Given the description of an element on the screen output the (x, y) to click on. 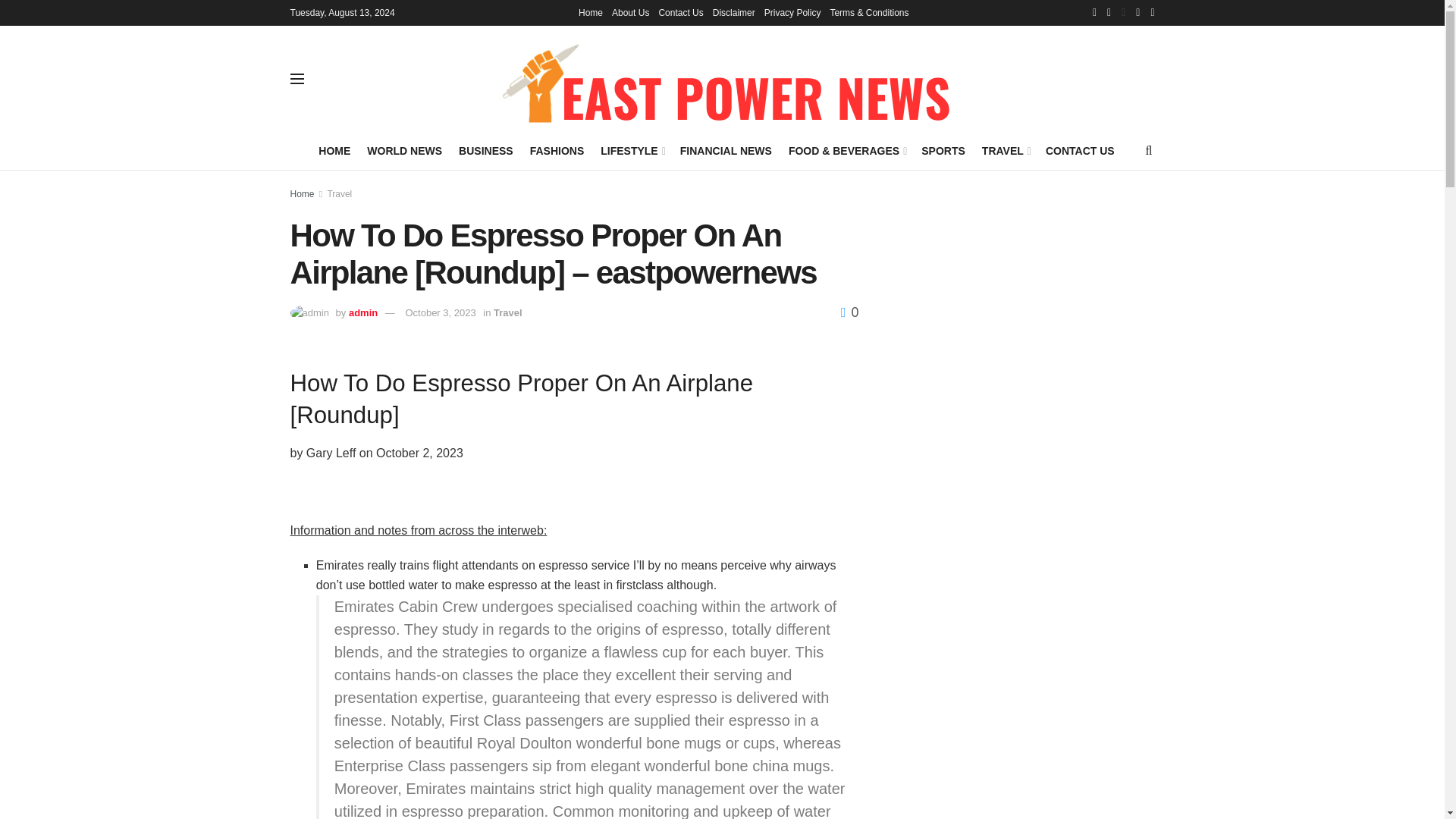
BUSINESS (485, 150)
Home (590, 12)
LIFESTYLE (631, 150)
WORLD NEWS (404, 150)
Privacy Policy (792, 12)
Disclaimer (734, 12)
HOME (334, 150)
FASHIONS (557, 150)
FINANCIAL NEWS (725, 150)
SPORTS (943, 150)
